Given the description of an element on the screen output the (x, y) to click on. 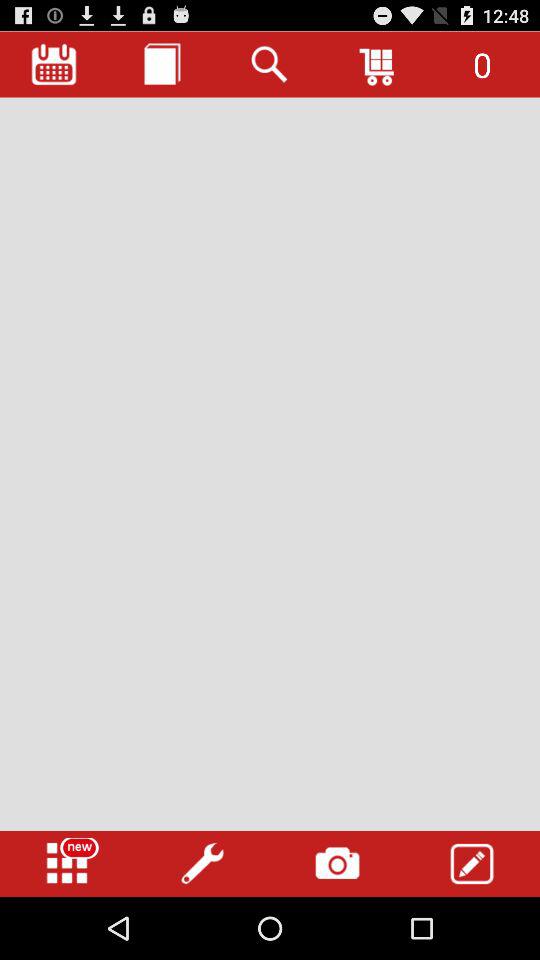
add to cart (377, 64)
